Given the description of an element on the screen output the (x, y) to click on. 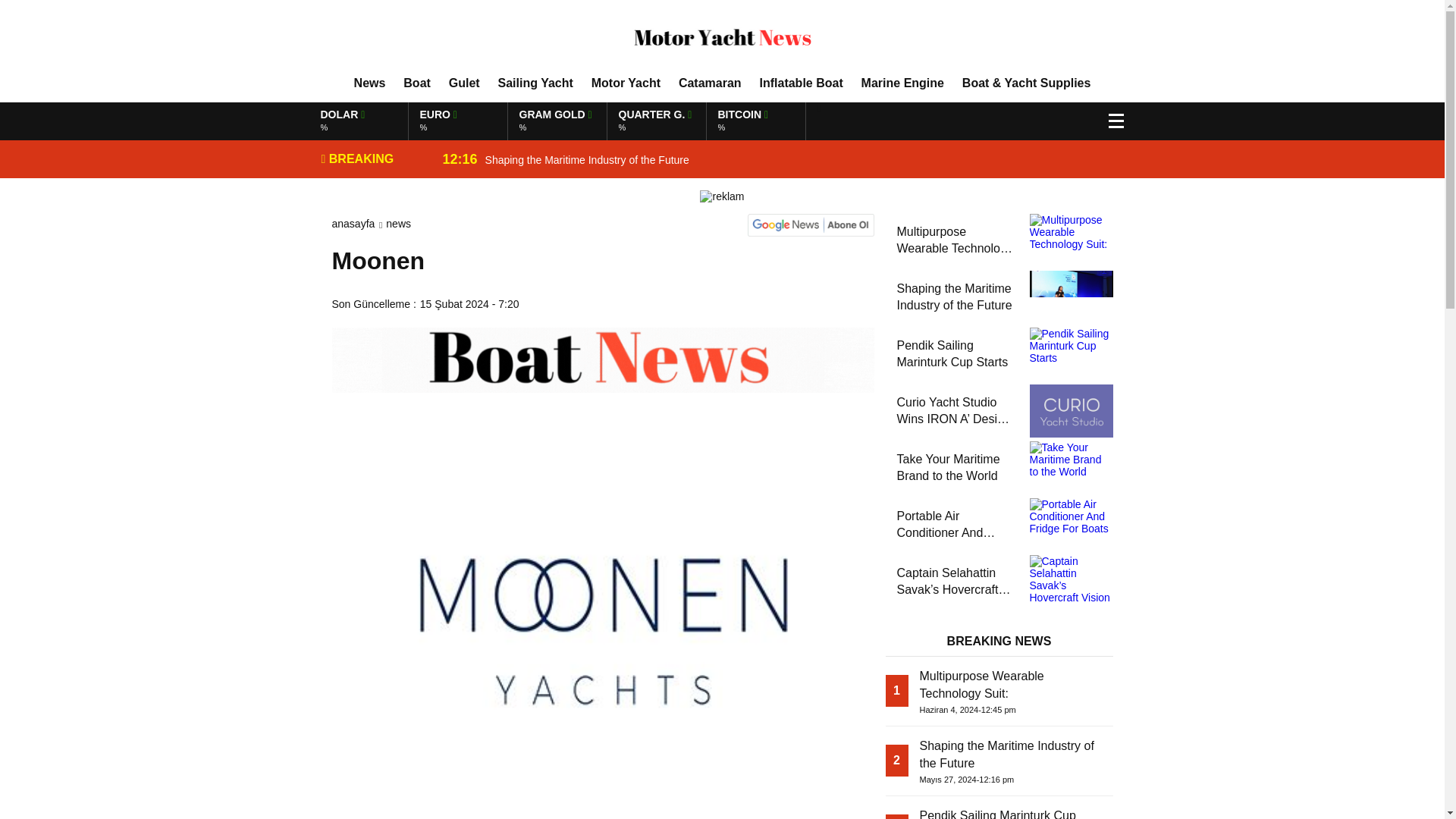
Gulet (464, 83)
news (397, 223)
anasayfa (353, 223)
Catamaran (710, 83)
Sailing Yacht (535, 83)
Boat (774, 121)
Motor Yacht (774, 159)
Multipurpose Wearable Technology Suit: (417, 83)
News (625, 83)
Shaping the Maritime Industry of the Future (774, 121)
Marine Engine (369, 83)
Inflatable Boat (774, 159)
